Given the description of an element on the screen output the (x, y) to click on. 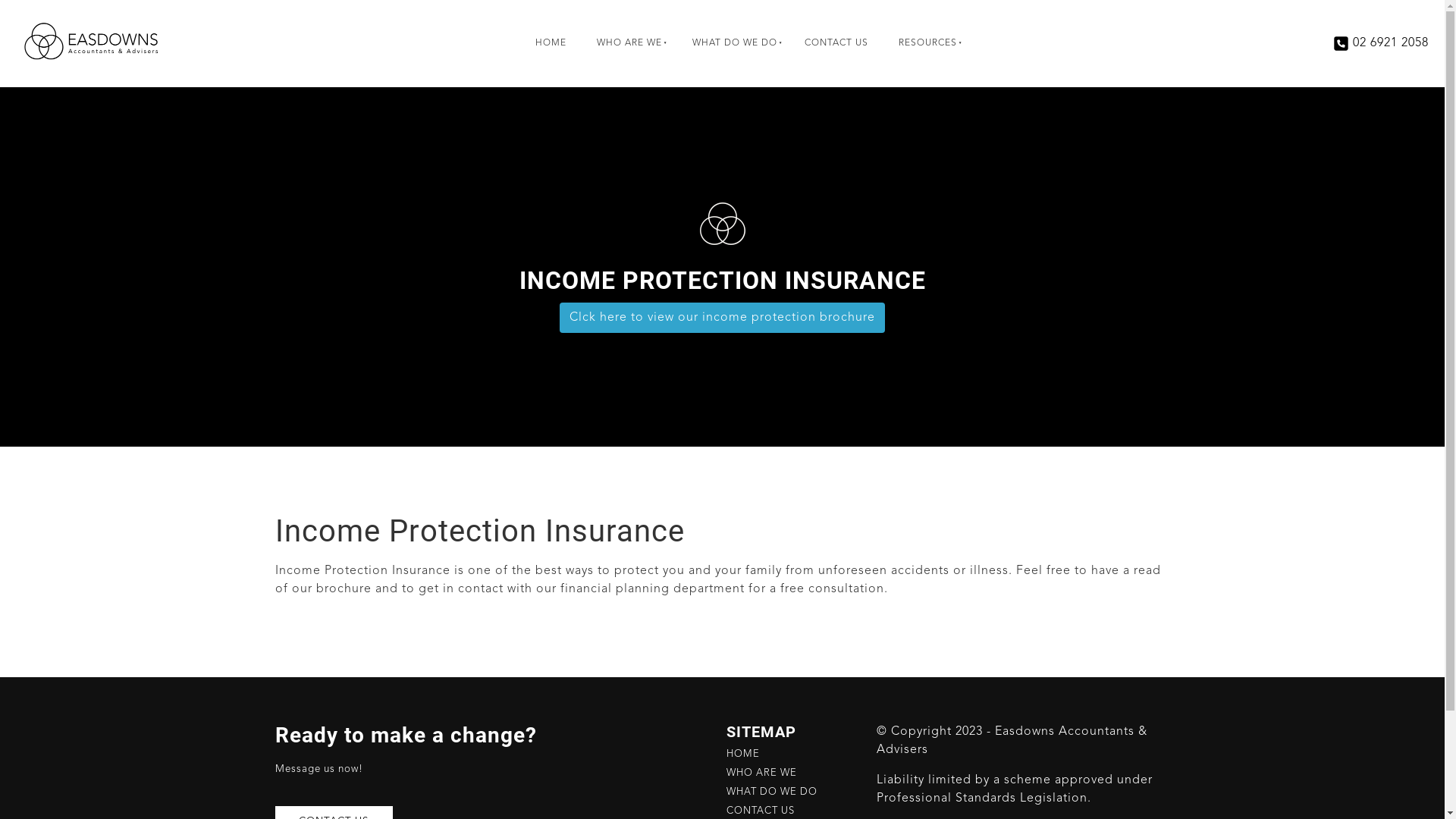
Clck here to view our income protection brochure Element type: text (721, 317)
WHO ARE WE Element type: text (626, 43)
CONTACT US Element type: text (835, 43)
HOME Element type: text (550, 43)
02 6921 2058 Element type: text (1390, 43)
CONTACT US Element type: text (760, 810)
WHAT DO WE DO Element type: text (732, 43)
HOME Element type: text (742, 754)
WHAT DO WE DO Element type: text (771, 792)
RESOURCES Element type: text (925, 43)
WHO ARE WE Element type: text (761, 773)
